Given the description of an element on the screen output the (x, y) to click on. 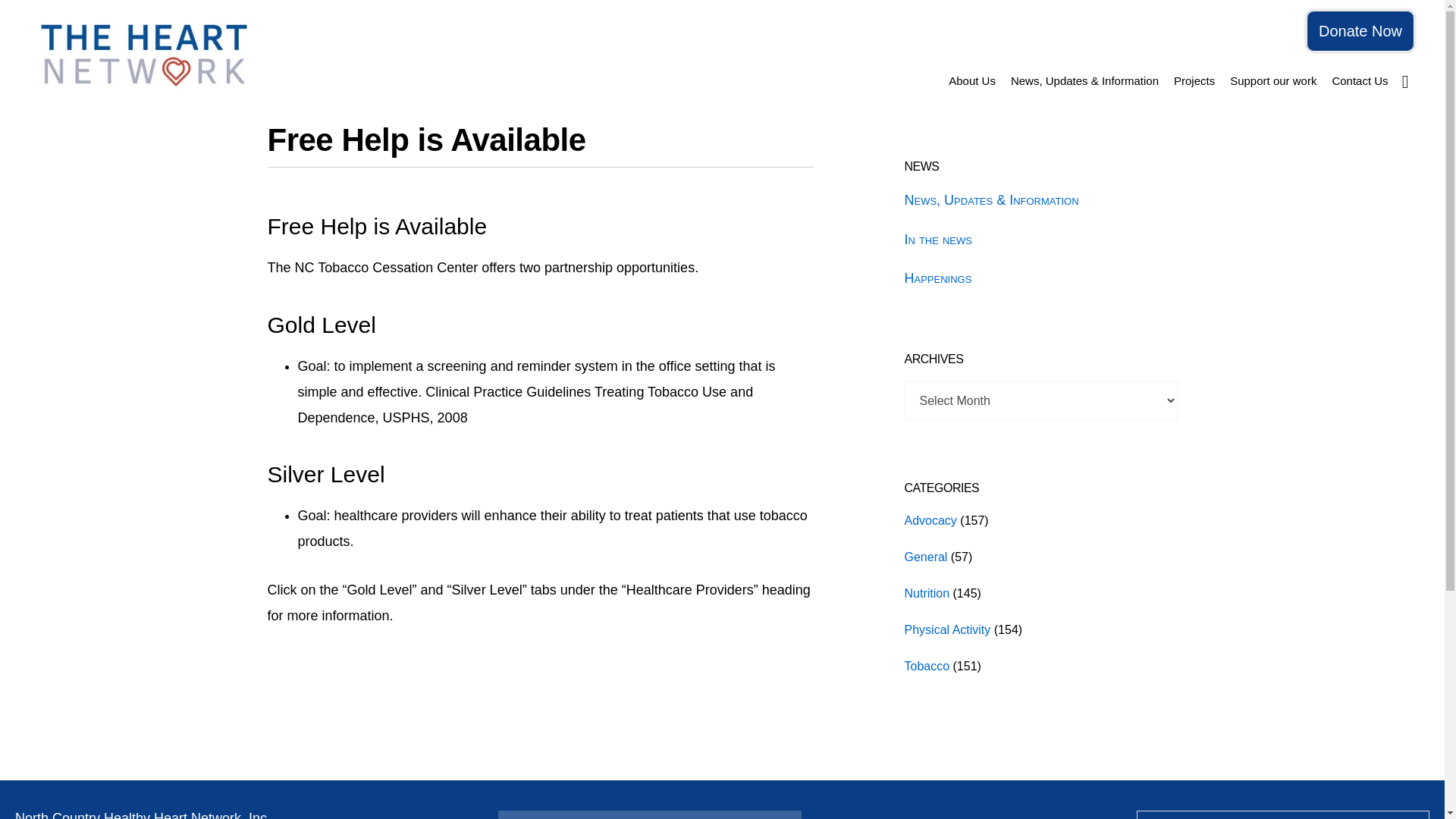
Advocacy (930, 520)
Suloff Designs (870, 783)
Happenings (937, 278)
About Us (971, 80)
Contact Us (1358, 80)
Tobacco (926, 666)
NORTH COUNTRY HEALTHY HEART NETWORK (143, 53)
Suloff Designs (870, 783)
Donate Now (1359, 30)
Nutrition (926, 593)
In the news (937, 239)
Support our work (1273, 80)
General (925, 556)
Physical Activity (947, 629)
